Given the description of an element on the screen output the (x, y) to click on. 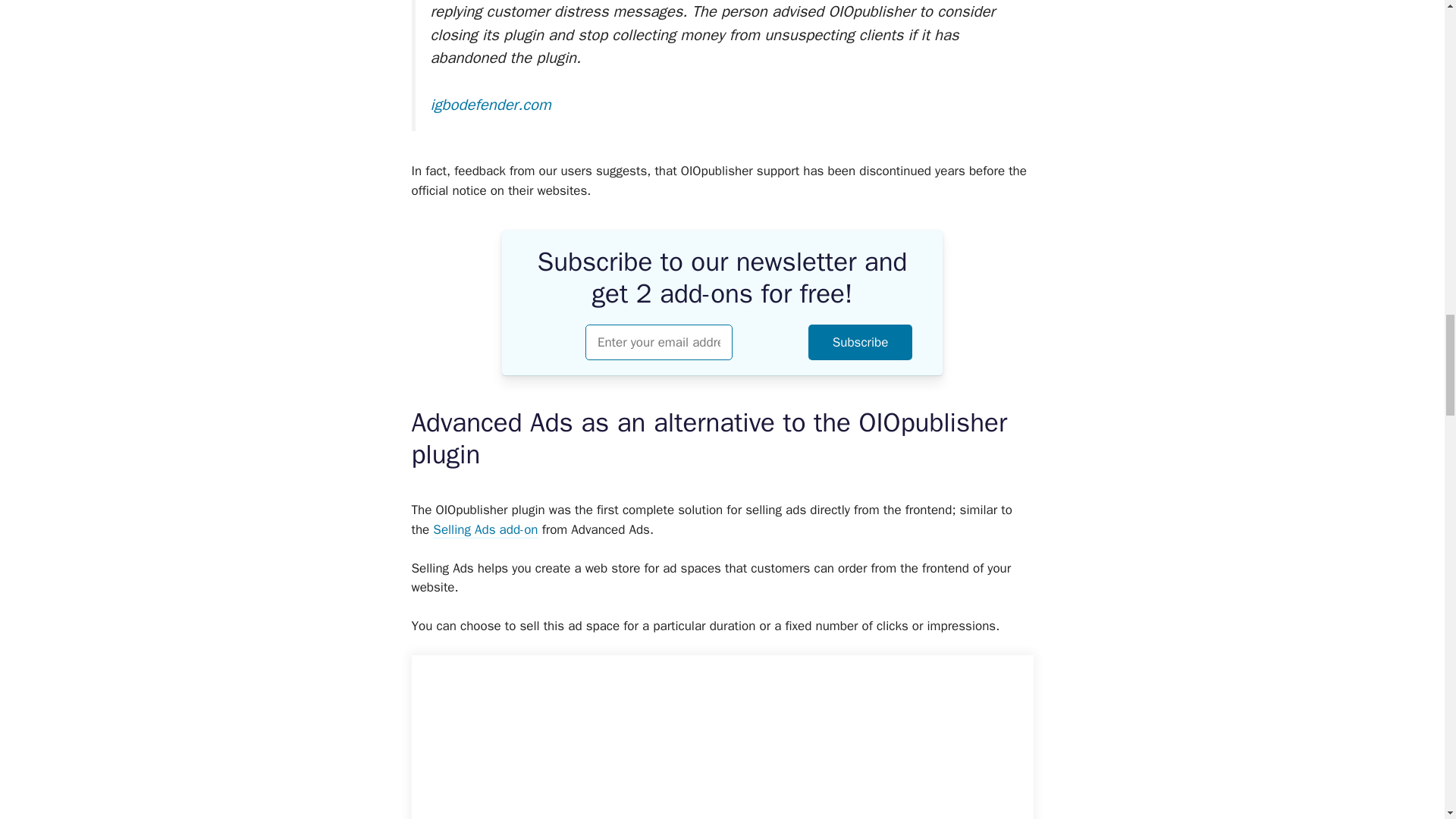
Subscribe (860, 342)
